Given the description of an element on the screen output the (x, y) to click on. 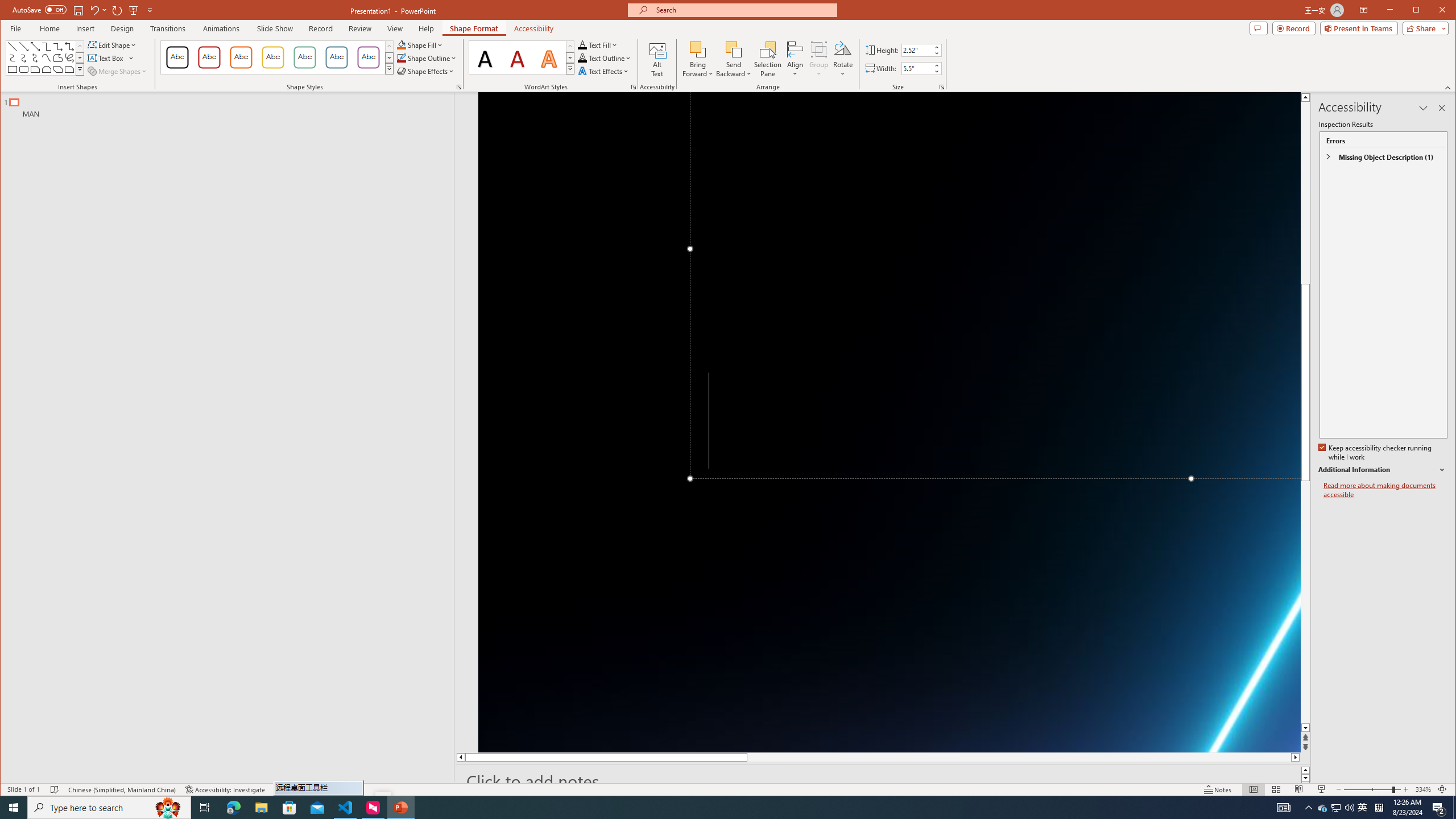
Connector: Curved (12, 57)
Text Effects (603, 70)
Send Backward (733, 48)
AutomationID: ShapeStylesGallery (277, 57)
Rectangle: Single Corner Snipped (34, 69)
Colored Outline - Dark Red, Accent 1 (209, 57)
